Given the description of an element on the screen output the (x, y) to click on. 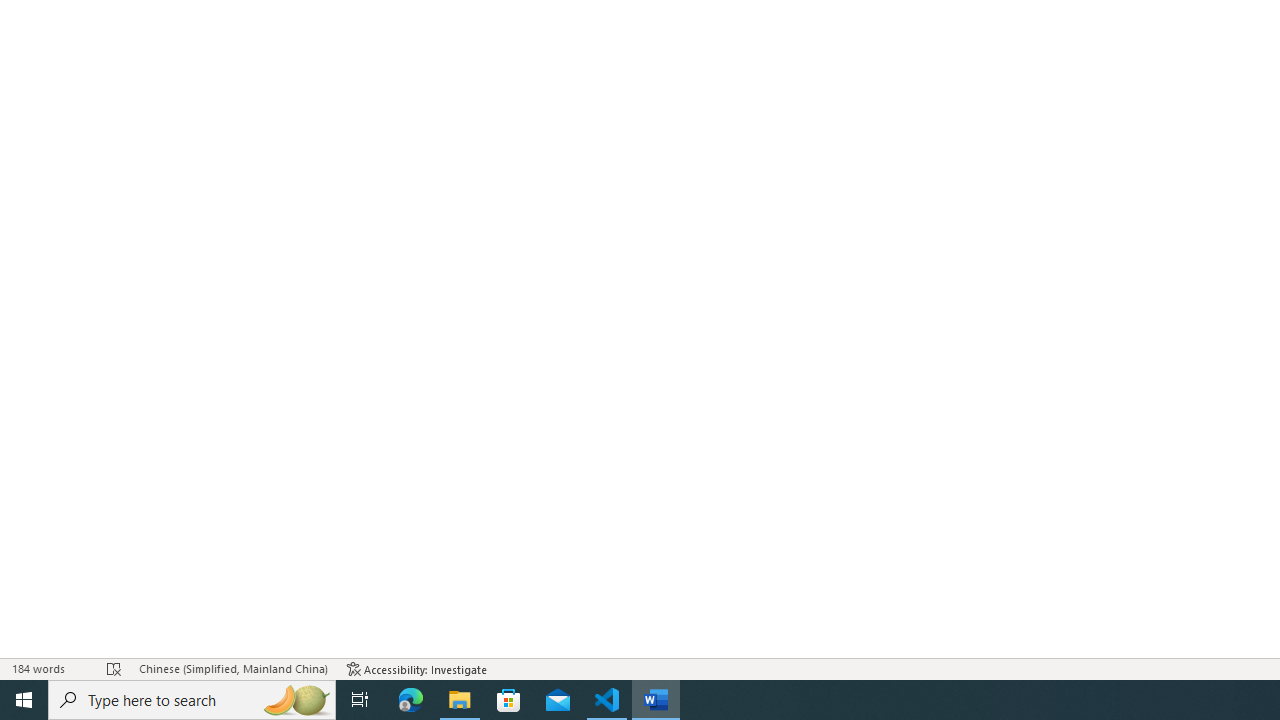
Word Count 184 words (49, 668)
